Given the description of an element on the screen output the (x, y) to click on. 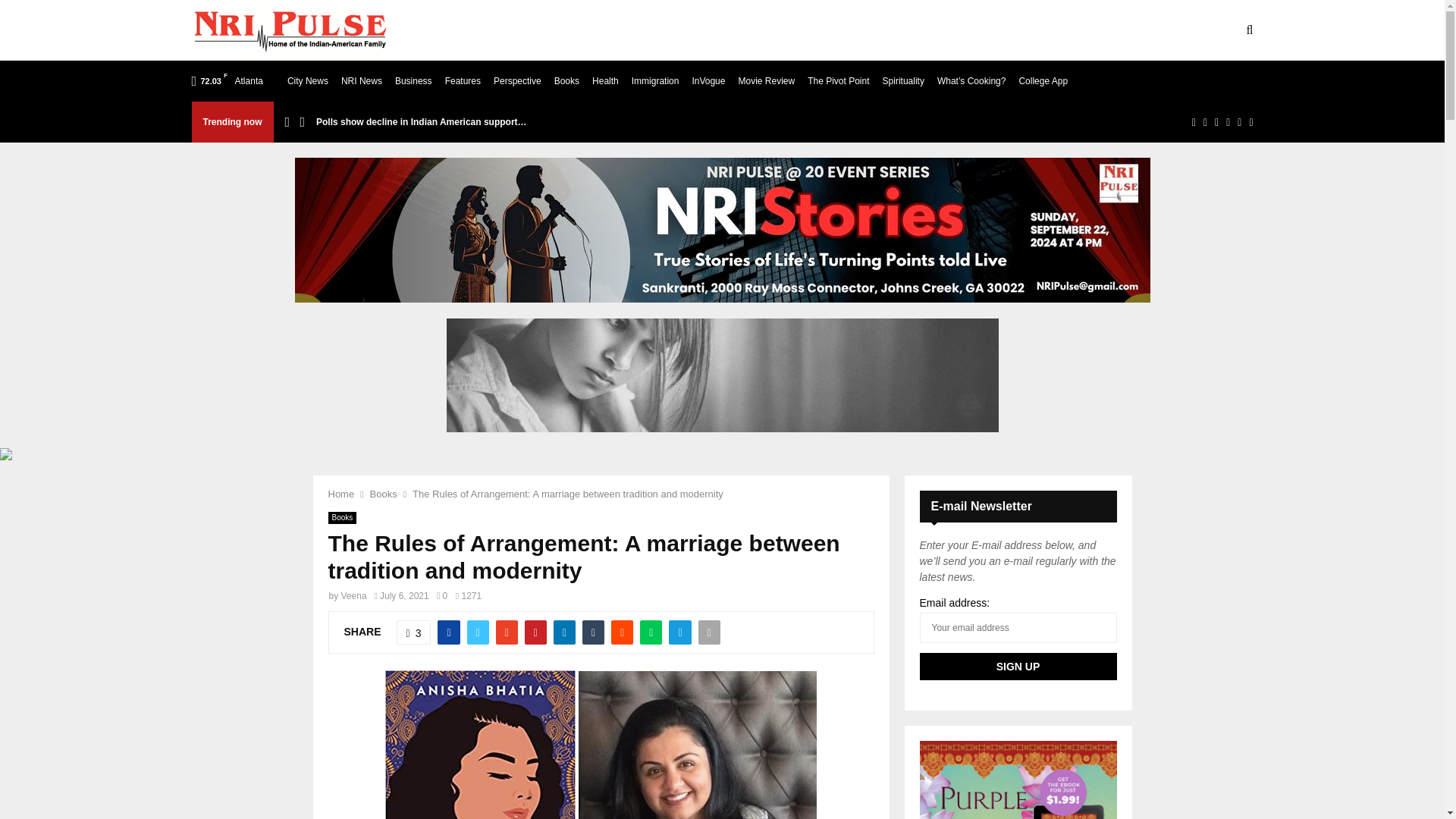
Health (605, 80)
NRI News (360, 80)
Spirituality (903, 80)
Sign up (1017, 666)
PERSPECTIVE (1063, 30)
Business (413, 80)
Perspective (517, 80)
The Pivot Point (838, 80)
Movie Review (766, 80)
City News (307, 80)
Like (413, 631)
Features (462, 80)
Immigration (655, 80)
CROWDFUNDERS 2023 (944, 30)
ABOUT US (501, 30)
